Given the description of an element on the screen output the (x, y) to click on. 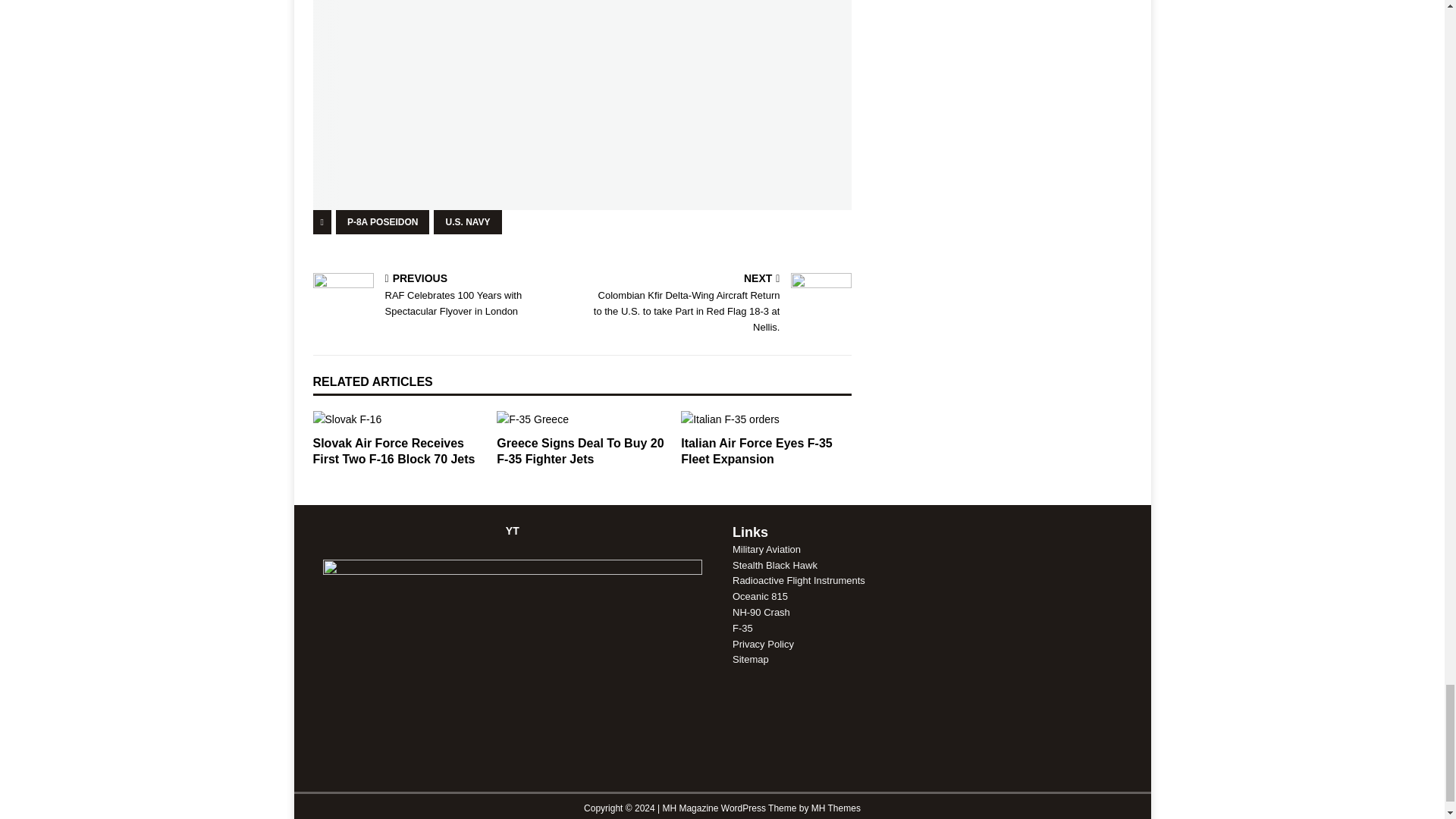
Slovak Air Force Receives First Two F-16 Block 70 Jets (393, 451)
P-8A POSEIDON (382, 221)
U.S. NAVY (466, 221)
Slovak Air Force Receives First Two F-16 Block 70 Jets (398, 419)
Slovak Air Force Receives First Two F-16 Block 70 Jets (393, 451)
